Given the description of an element on the screen output the (x, y) to click on. 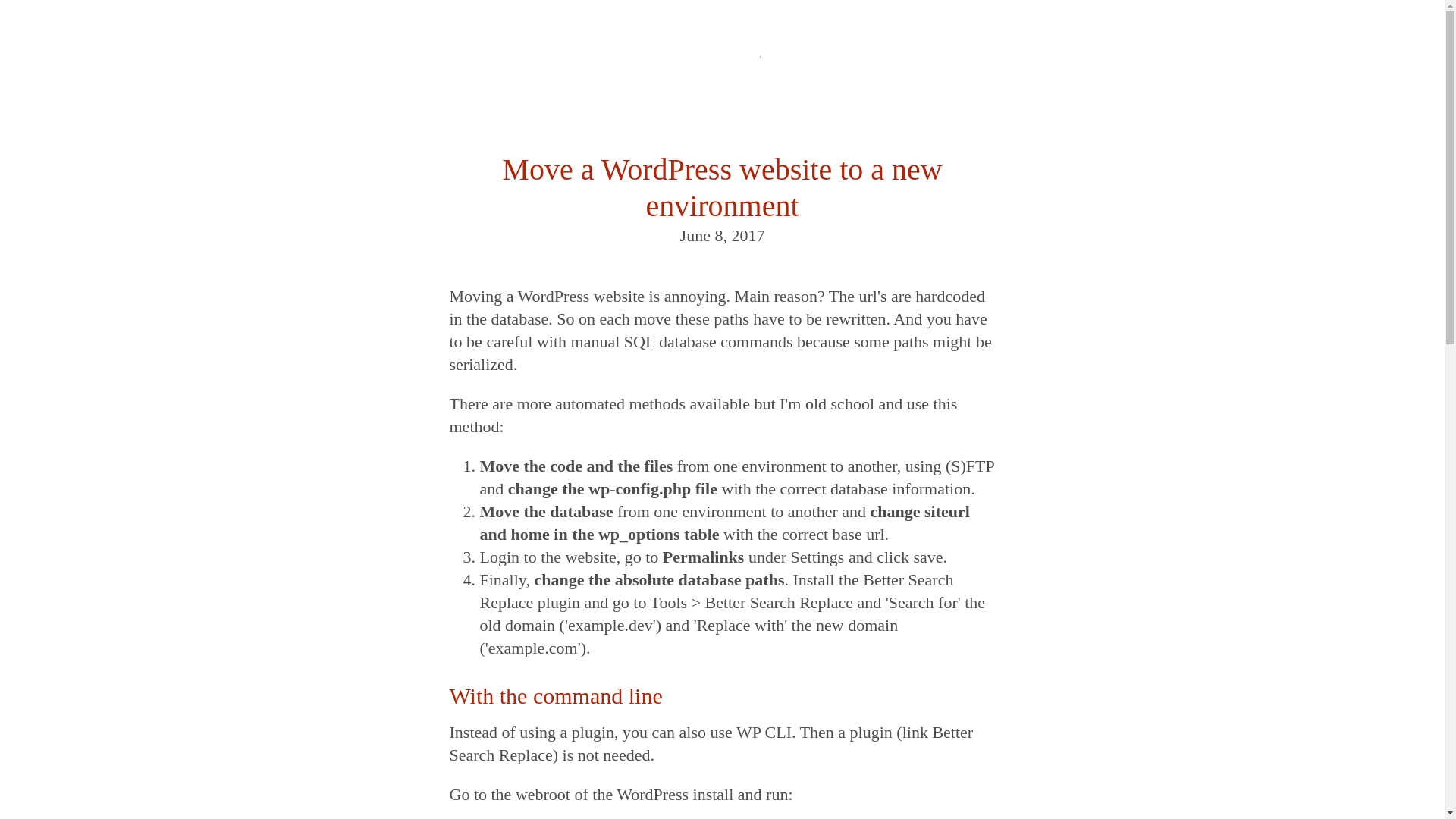
Skip to main content Element type: text (0, 37)
Bram Van den Bulcke Element type: text (721, 75)
